Given the description of an element on the screen output the (x, y) to click on. 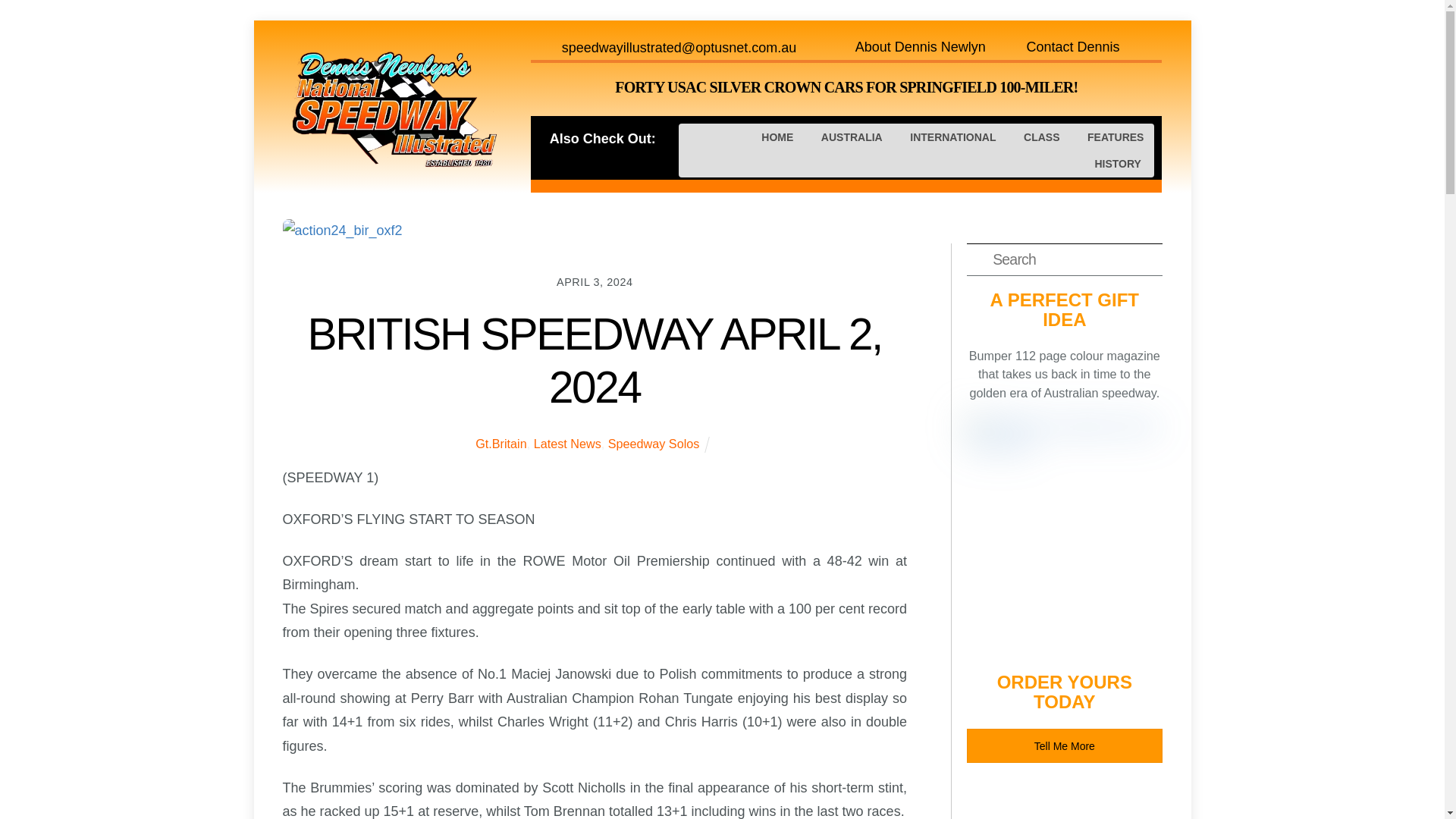
INTERNATIONAL (952, 136)
FORTY USAC SILVER CROWN CARS FOR SPRINGFIELD 100-MILER! (845, 86)
HISTORY (1117, 164)
Speedway Solos (654, 443)
AUSTRALIA (851, 136)
About Dennis Newlyn (930, 47)
HOME (777, 136)
Search (1063, 259)
BRITISH SPEEDWAY APRIL 2, 2024 (594, 360)
